Given the description of an element on the screen output the (x, y) to click on. 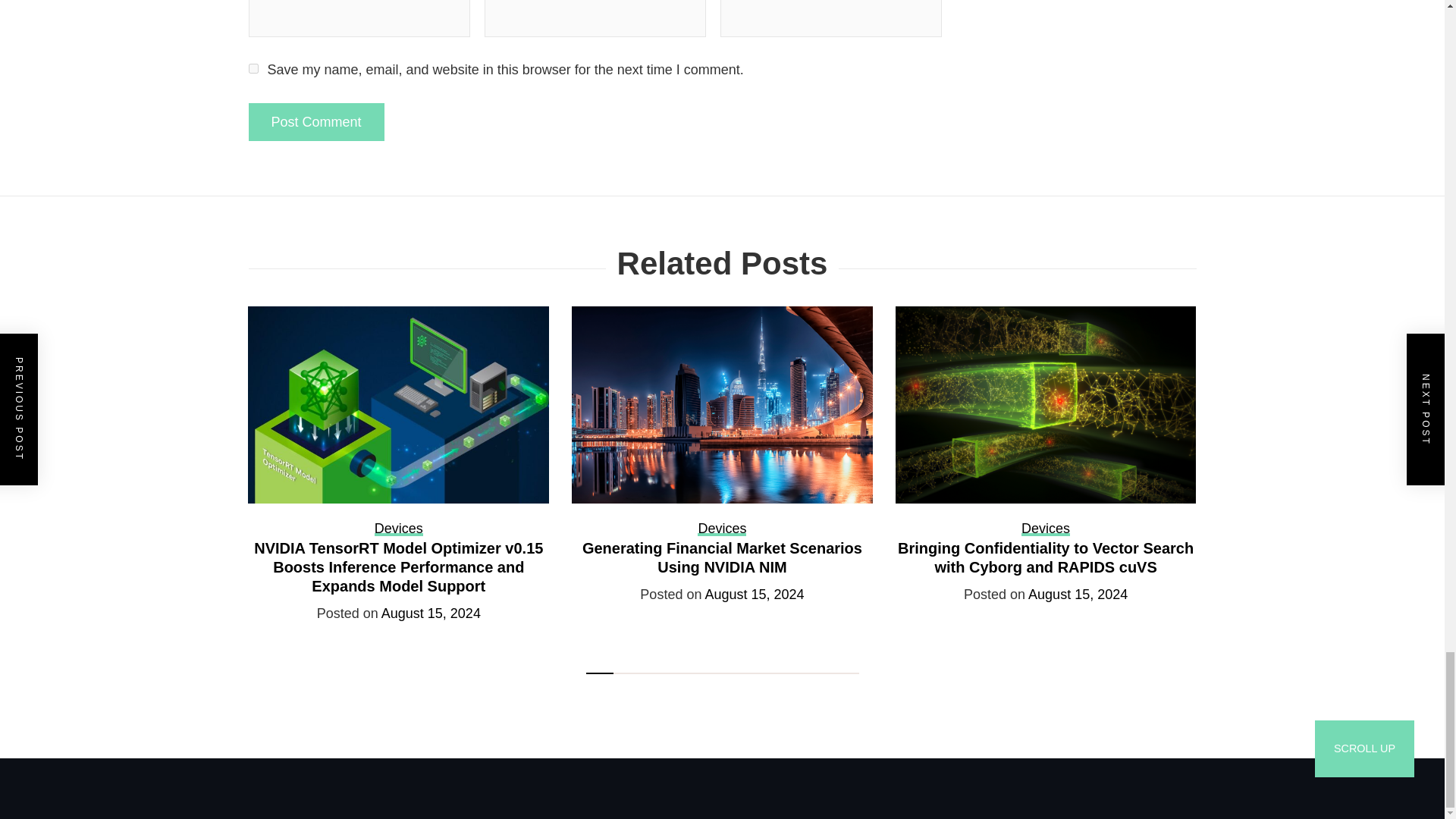
Post Comment (316, 121)
Post Comment (316, 121)
SCROLL UP (1363, 748)
yes (253, 68)
